Given the description of an element on the screen output the (x, y) to click on. 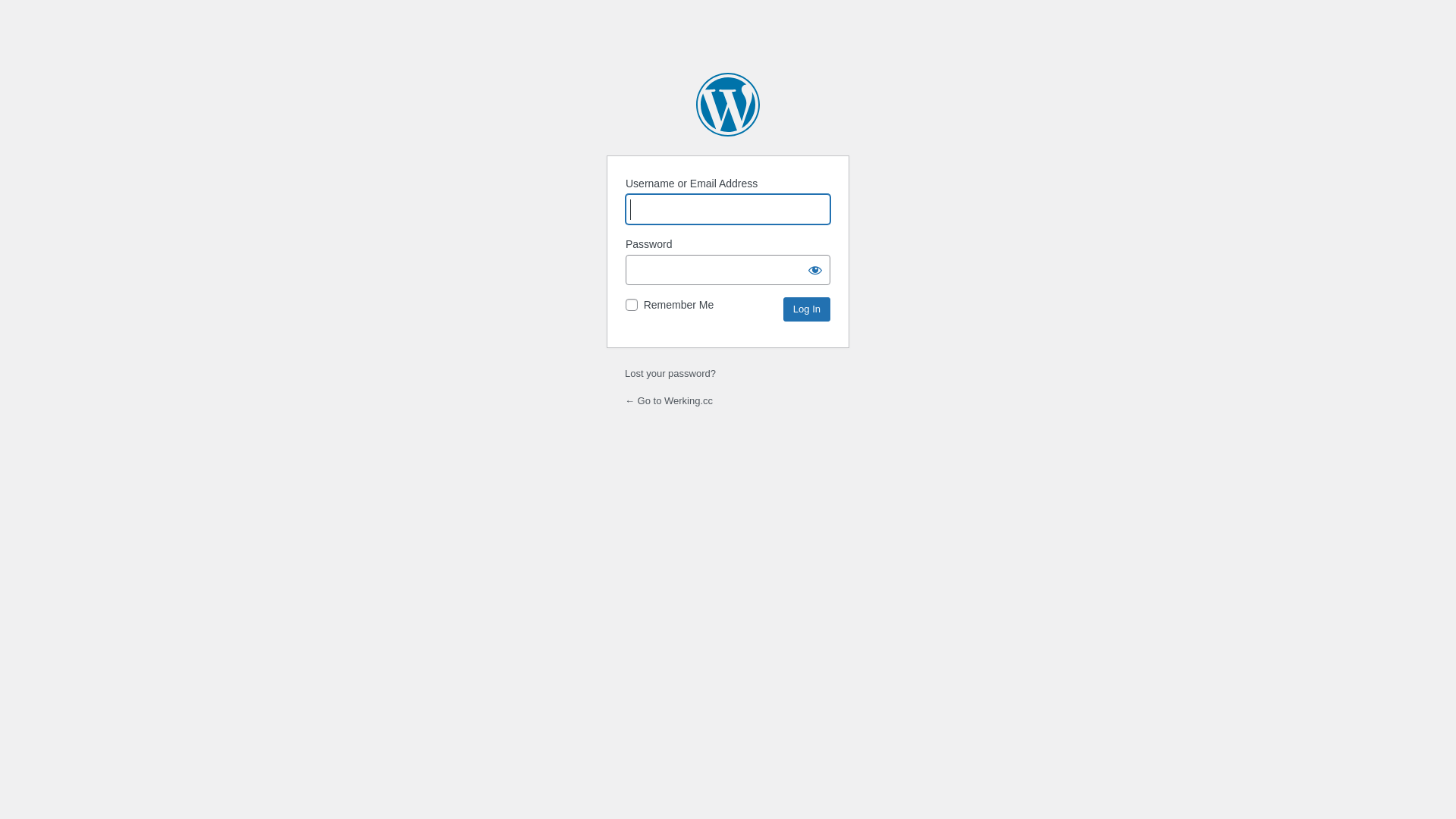
Log In Element type: text (806, 309)
Powered by WordPress Element type: text (727, 104)
Lost your password? Element type: text (669, 373)
